Given the description of an element on the screen output the (x, y) to click on. 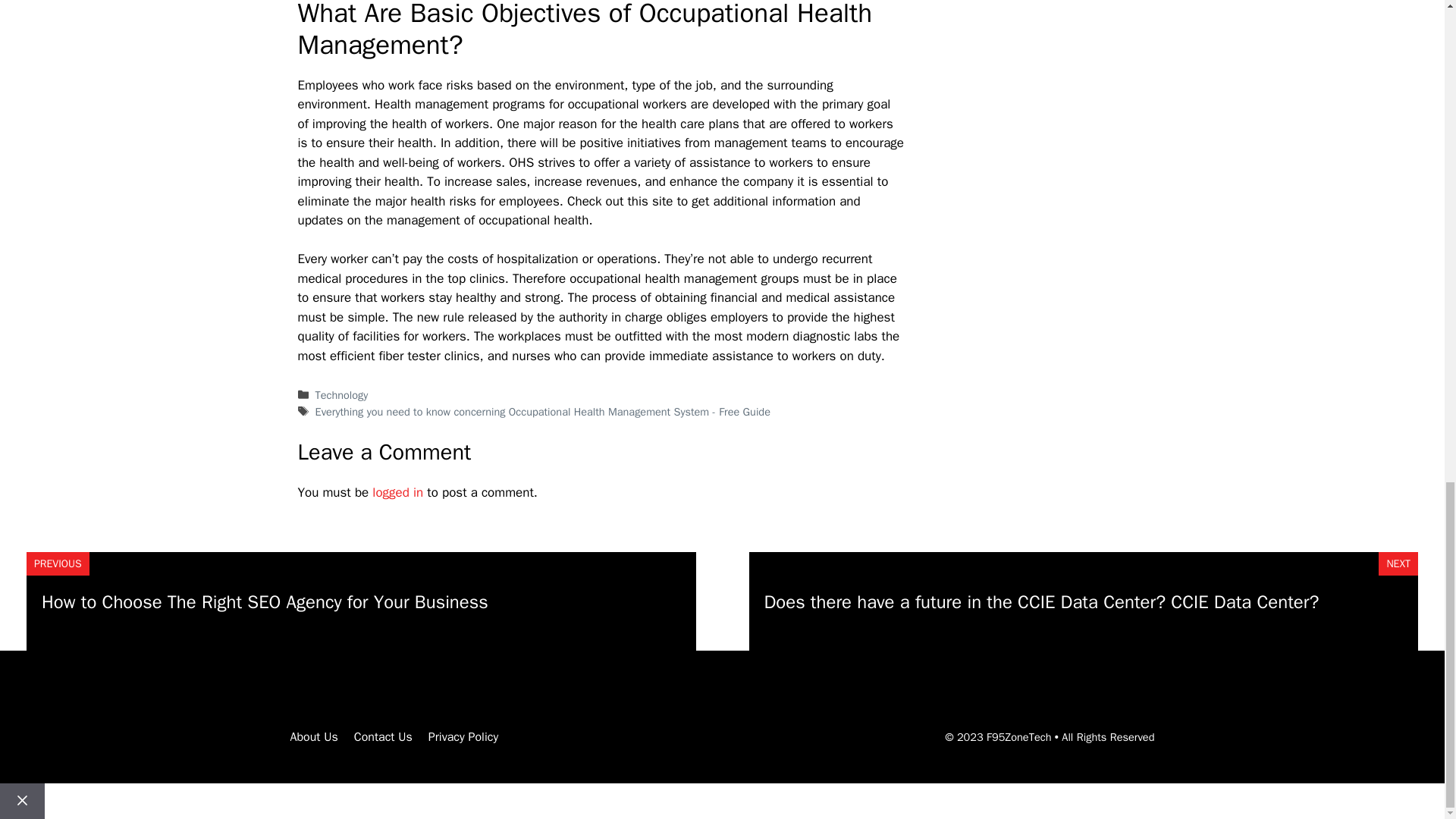
logged in (397, 492)
Scroll back to top (1406, 352)
Contact Us (382, 736)
Technology (341, 395)
F95ZoneTech (1019, 736)
About Us (313, 736)
How to Choose The Right SEO Agency for Your Business (264, 601)
Privacy Policy (462, 736)
